Given the description of an element on the screen output the (x, y) to click on. 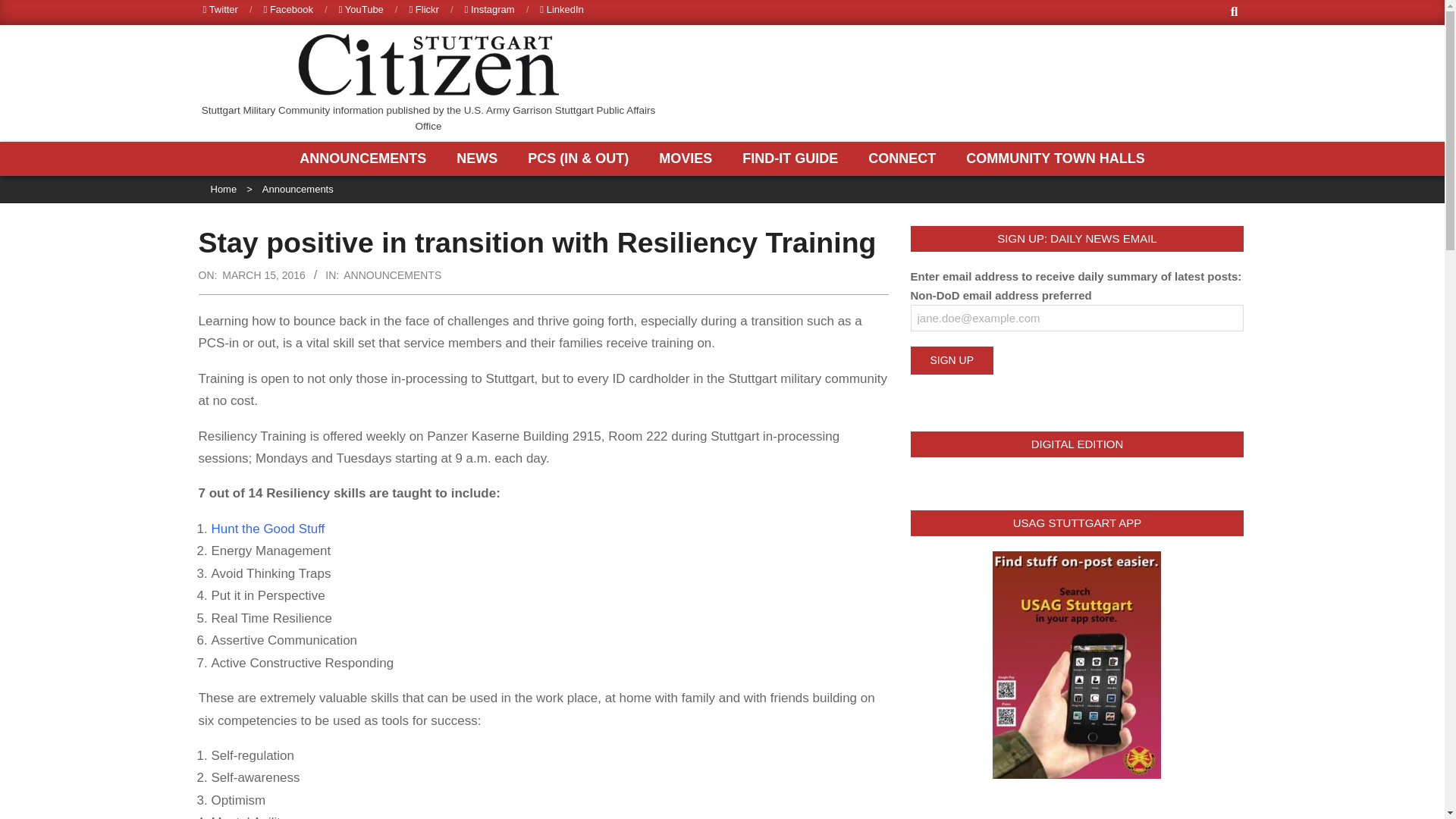
YouTube (361, 9)
Flickr (423, 9)
FIND-IT GUIDE (793, 158)
LinkedIn (561, 9)
Go to the Announcements Category archives. (297, 188)
Twitter (220, 9)
MOVIES (688, 158)
NEWS (480, 158)
ANNOUNCEMENTS (366, 158)
Sign up (951, 360)
